Given the description of an element on the screen output the (x, y) to click on. 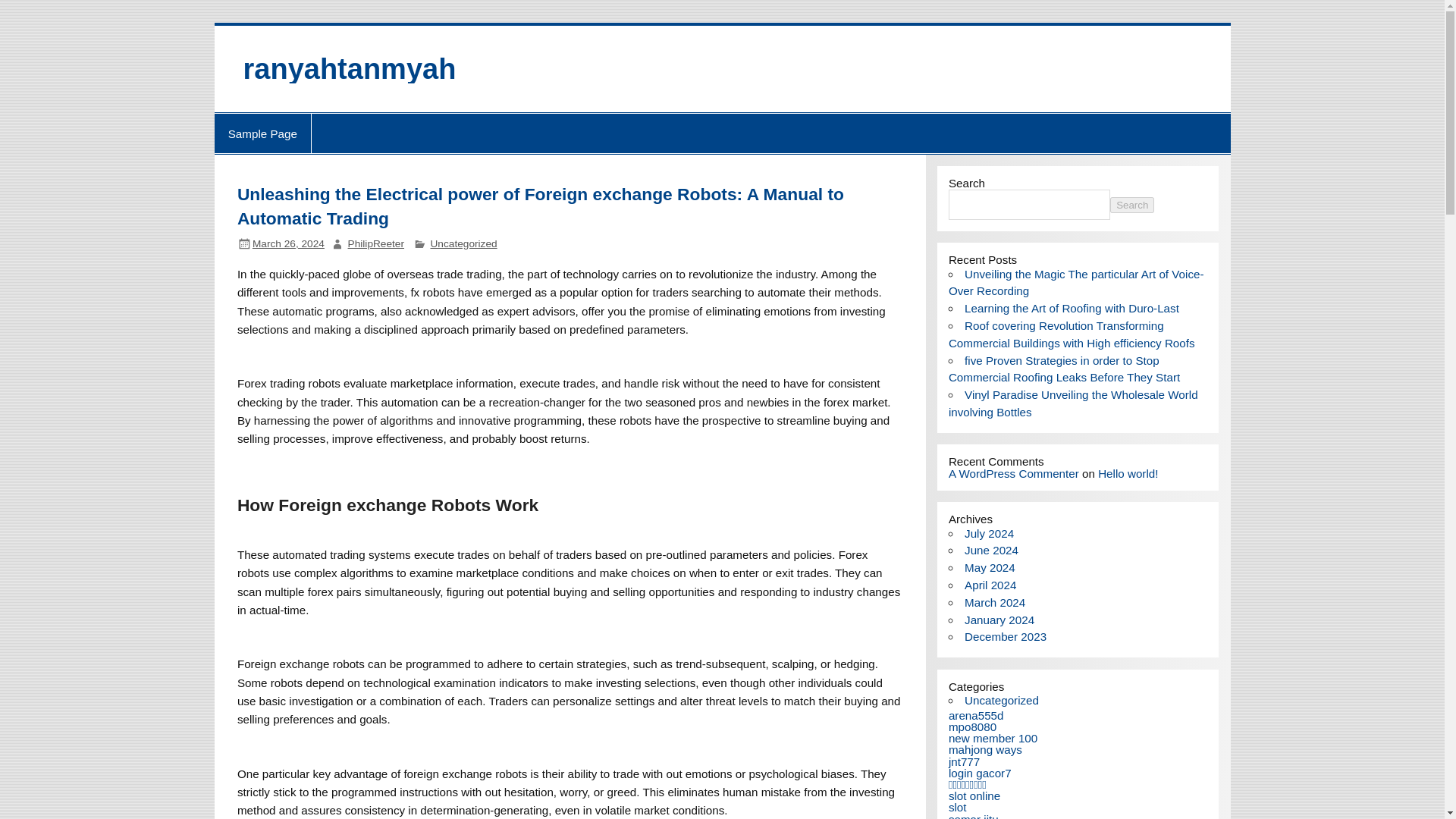
December 2023 (1004, 635)
new member 100 (992, 738)
Learning the Art of Roofing with Duro-Last (1071, 308)
January 2024 (998, 619)
arena555d (976, 715)
May 2024 (988, 567)
Uncategorized (462, 243)
A WordPress Commenter (1013, 472)
View all posts by PhilipReeter (375, 243)
slot online (974, 795)
ranyahtanmyah (349, 69)
PhilipReeter (375, 243)
